Given the description of an element on the screen output the (x, y) to click on. 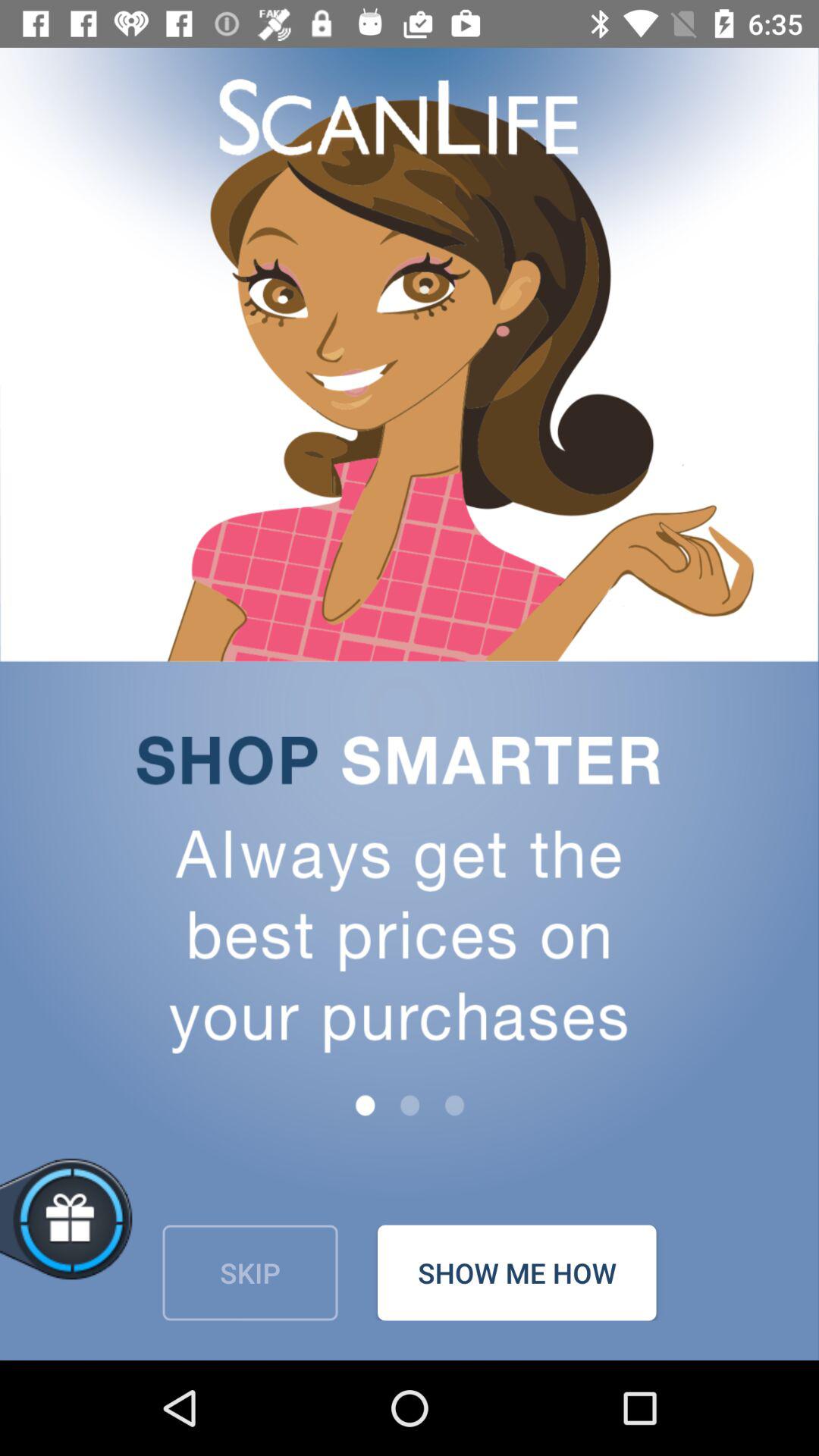
click gift button (119, 1236)
